Given the description of an element on the screen output the (x, y) to click on. 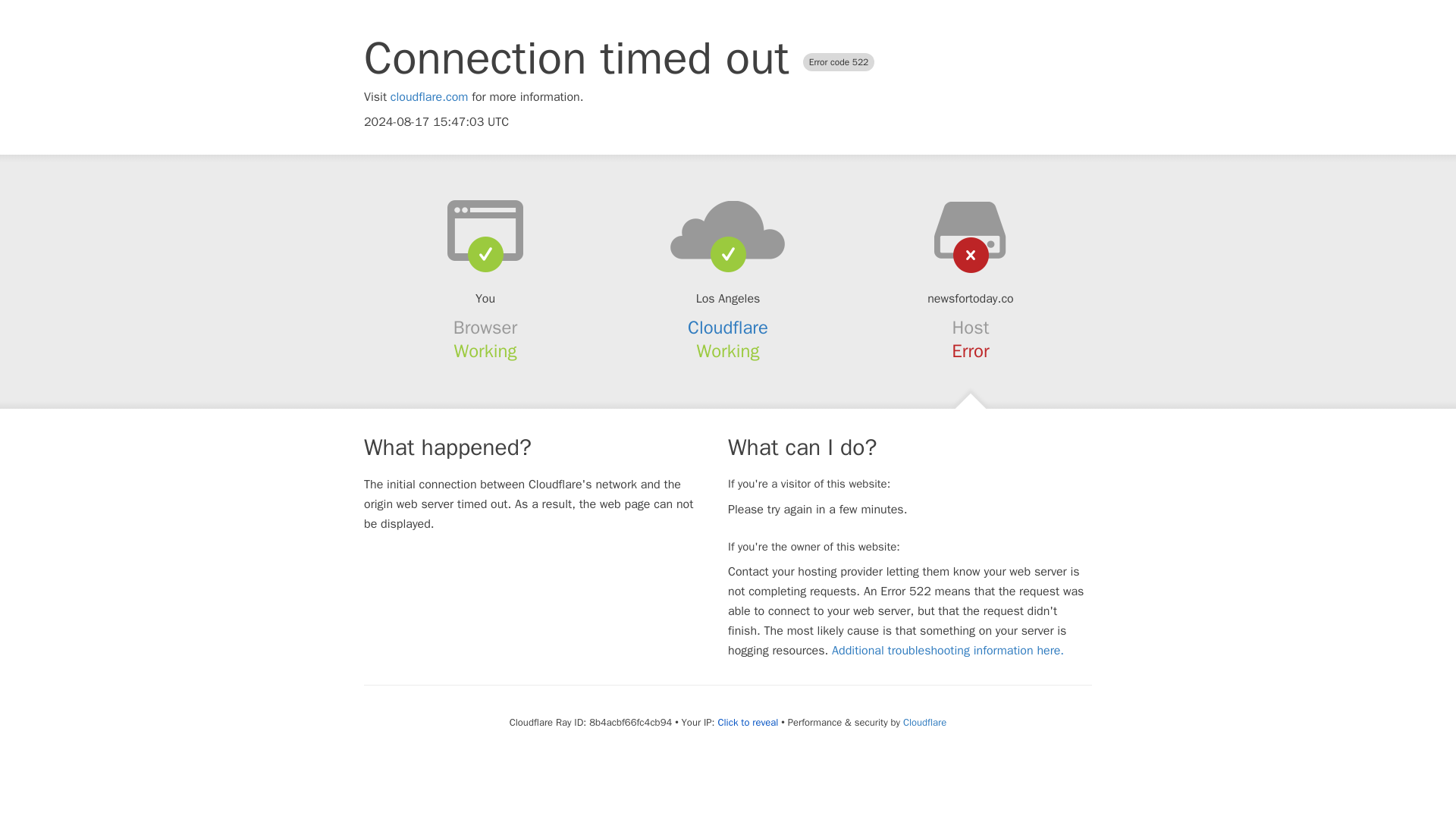
Cloudflare (924, 721)
Additional troubleshooting information here. (947, 650)
Click to reveal (747, 722)
Cloudflare (727, 327)
cloudflare.com (429, 96)
